Given the description of an element on the screen output the (x, y) to click on. 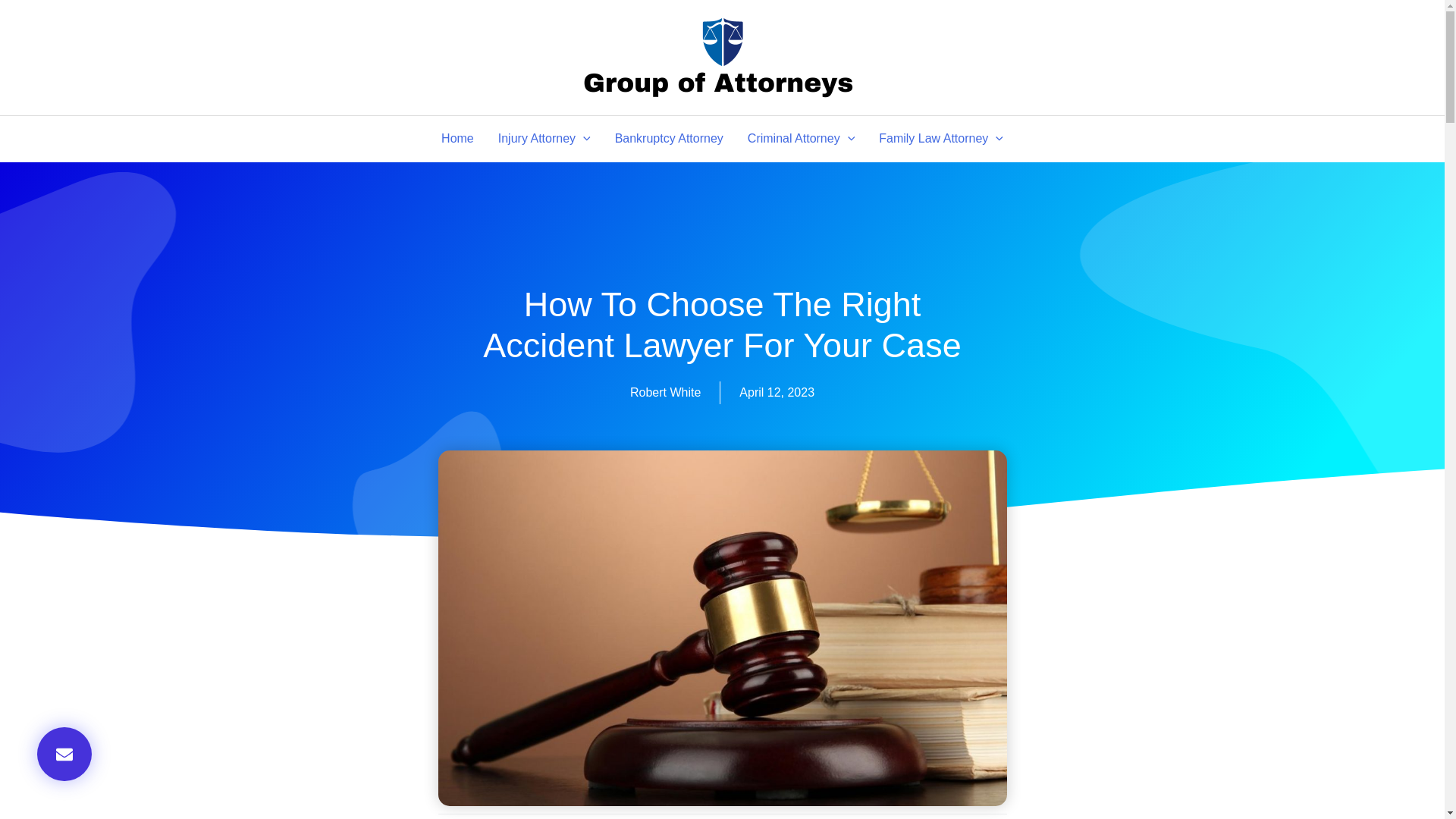
Injury Attorney (544, 138)
Criminal Attorney (800, 138)
Home (457, 138)
Family Law Attorney (940, 138)
Bankruptcy Attorney (668, 138)
